Given the description of an element on the screen output the (x, y) to click on. 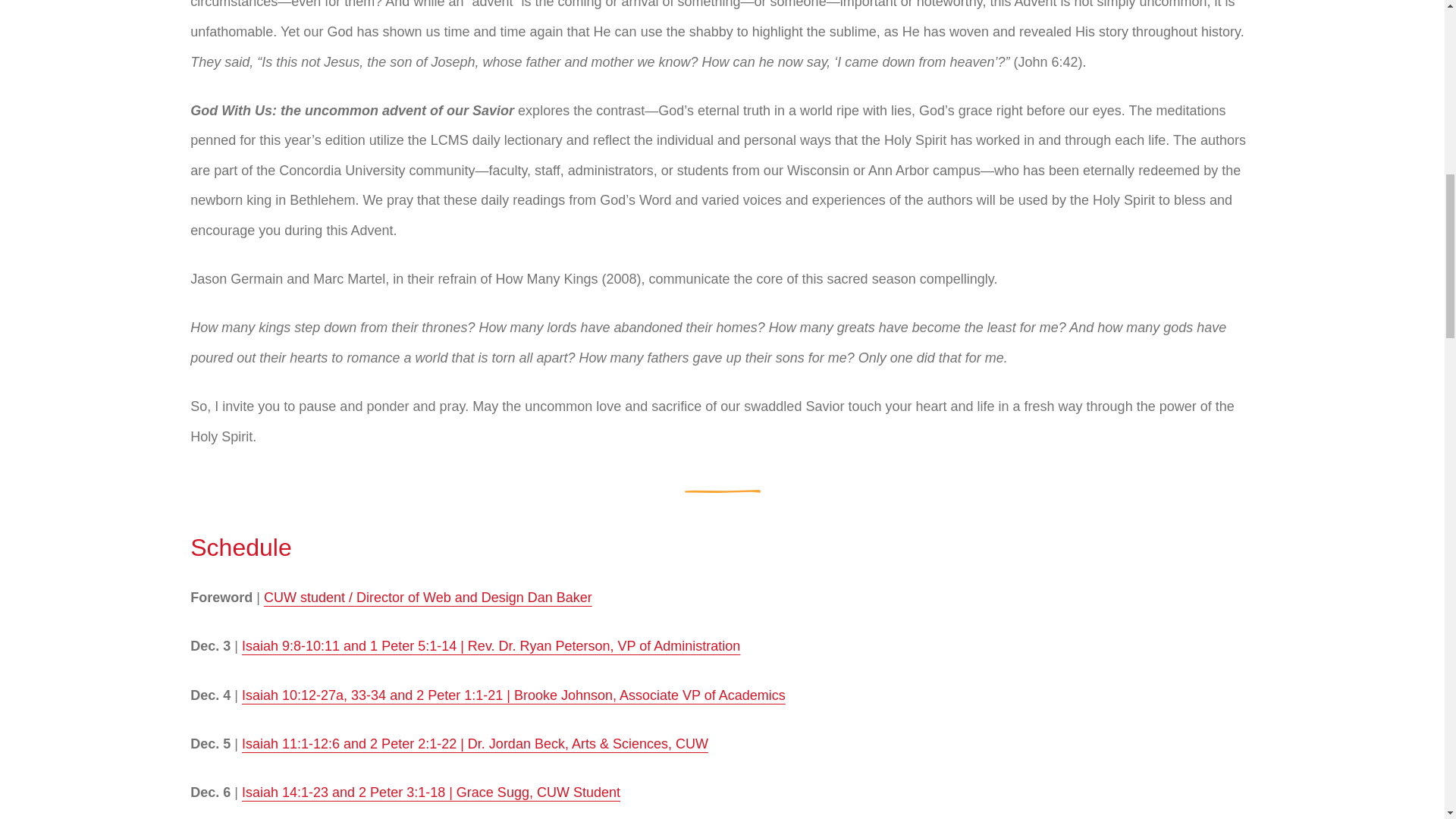
Isaiah 9:8-10 (280, 645)
